Given the description of an element on the screen output the (x, y) to click on. 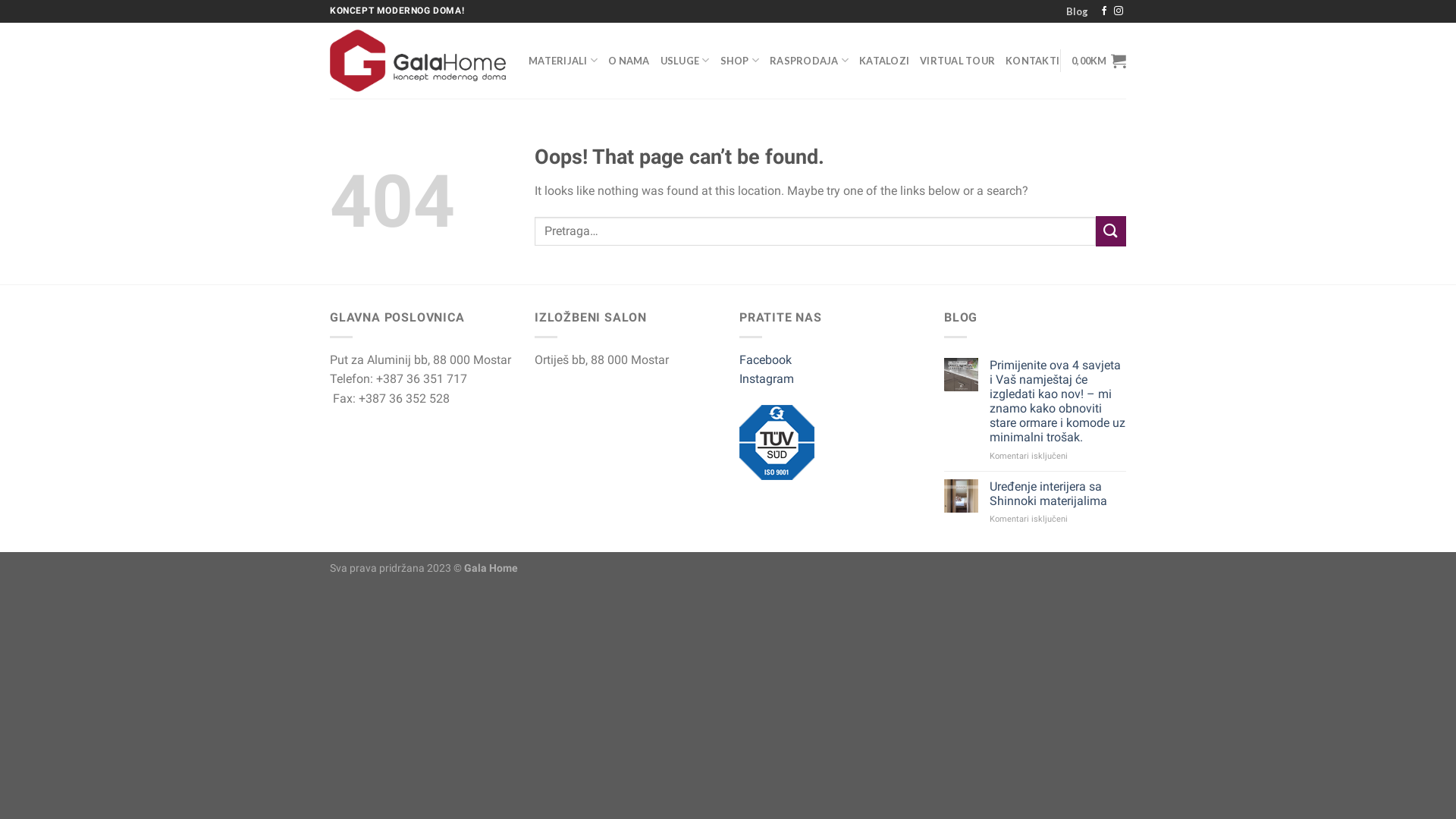
Gala Home - Koncept modernog doma! Element type: hover (417, 60)
USLUGE Element type: text (684, 60)
MATERIJALI Element type: text (562, 60)
SHOP Element type: text (739, 60)
Follow on Facebook Element type: hover (1103, 11)
KONTAKTI Element type: text (1032, 60)
0,00KM Element type: text (1098, 60)
RASPRODAJA Element type: text (808, 60)
Follow on Instagram Element type: hover (1118, 11)
O NAMA Element type: text (628, 60)
Instagram Element type: text (766, 378)
KATALOZI Element type: text (884, 60)
Blog Element type: text (1077, 11)
Facebook Element type: text (765, 359)
VIRTUAL TOUR Element type: text (956, 60)
